Given the description of an element on the screen output the (x, y) to click on. 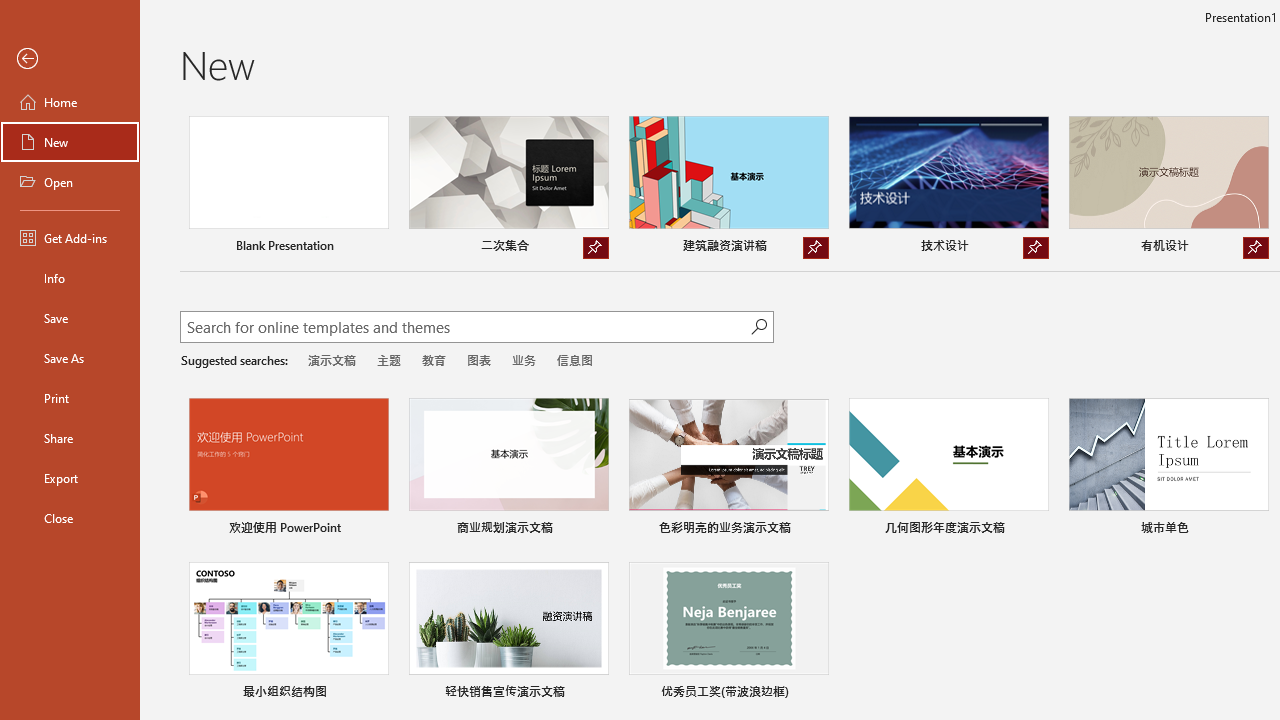
Info (69, 277)
Search for online templates and themes (465, 329)
Export (69, 477)
New (69, 141)
